Given the description of an element on the screen output the (x, y) to click on. 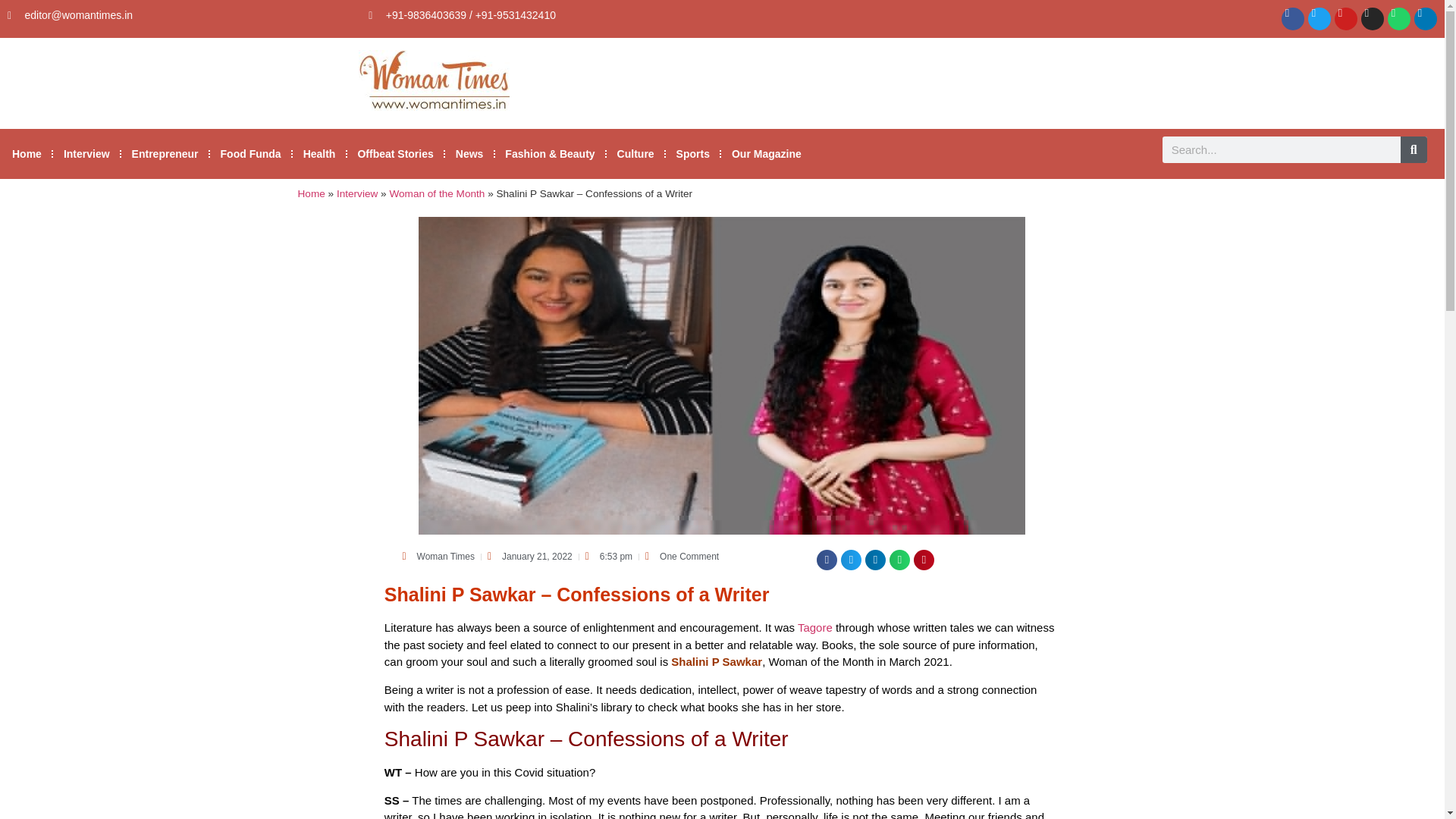
Woman of the Month (436, 193)
Tagore (814, 626)
Culture (635, 153)
Offbeat Stories (395, 153)
Entrepreneur (165, 153)
Food Funda (250, 153)
Sports (692, 153)
Woman Times (438, 556)
Interview (87, 153)
One Comment (682, 556)
